Given the description of an element on the screen output the (x, y) to click on. 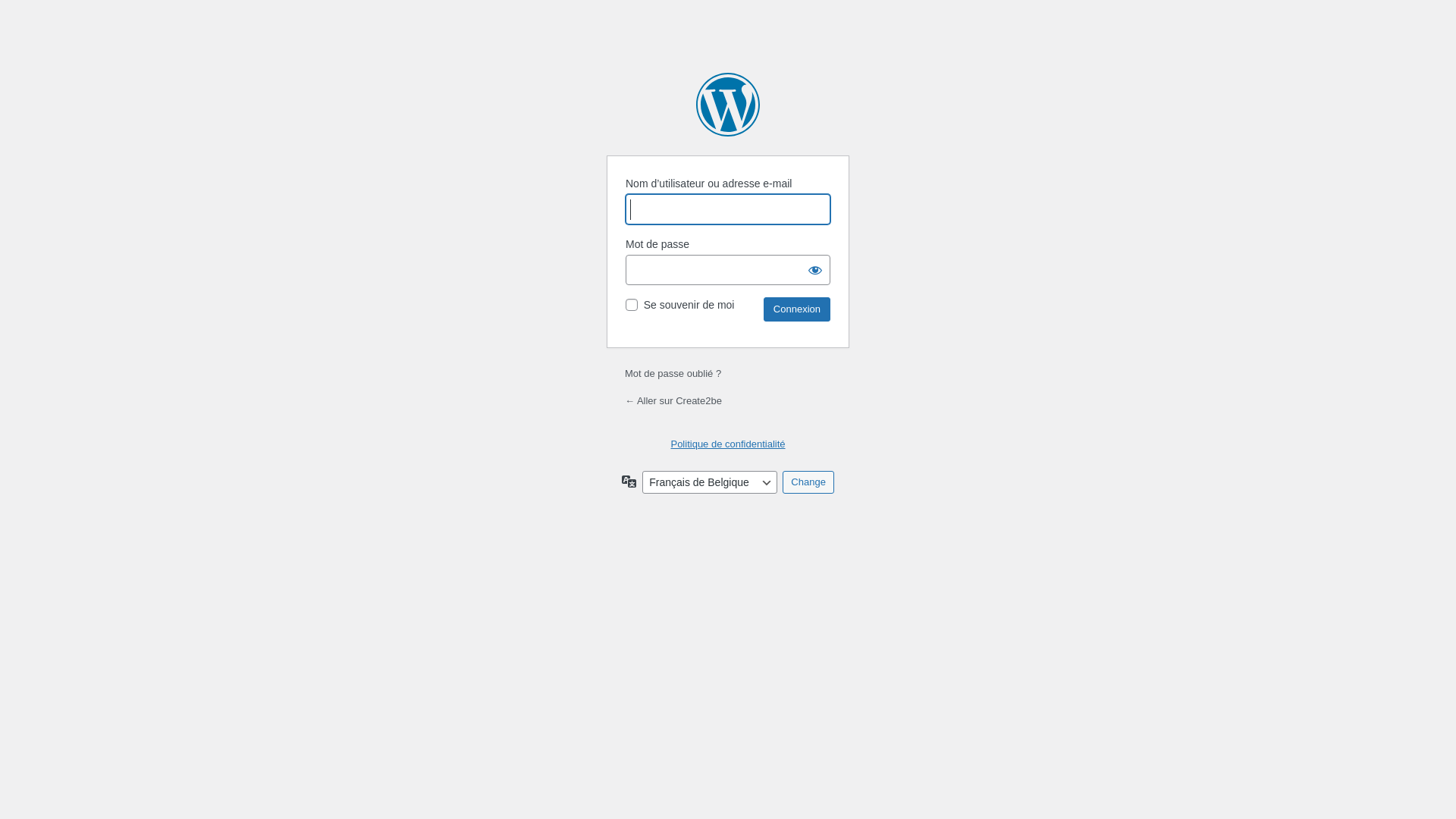
Change Element type: text (808, 481)
Connexion Element type: text (796, 309)
